Given the description of an element on the screen output the (x, y) to click on. 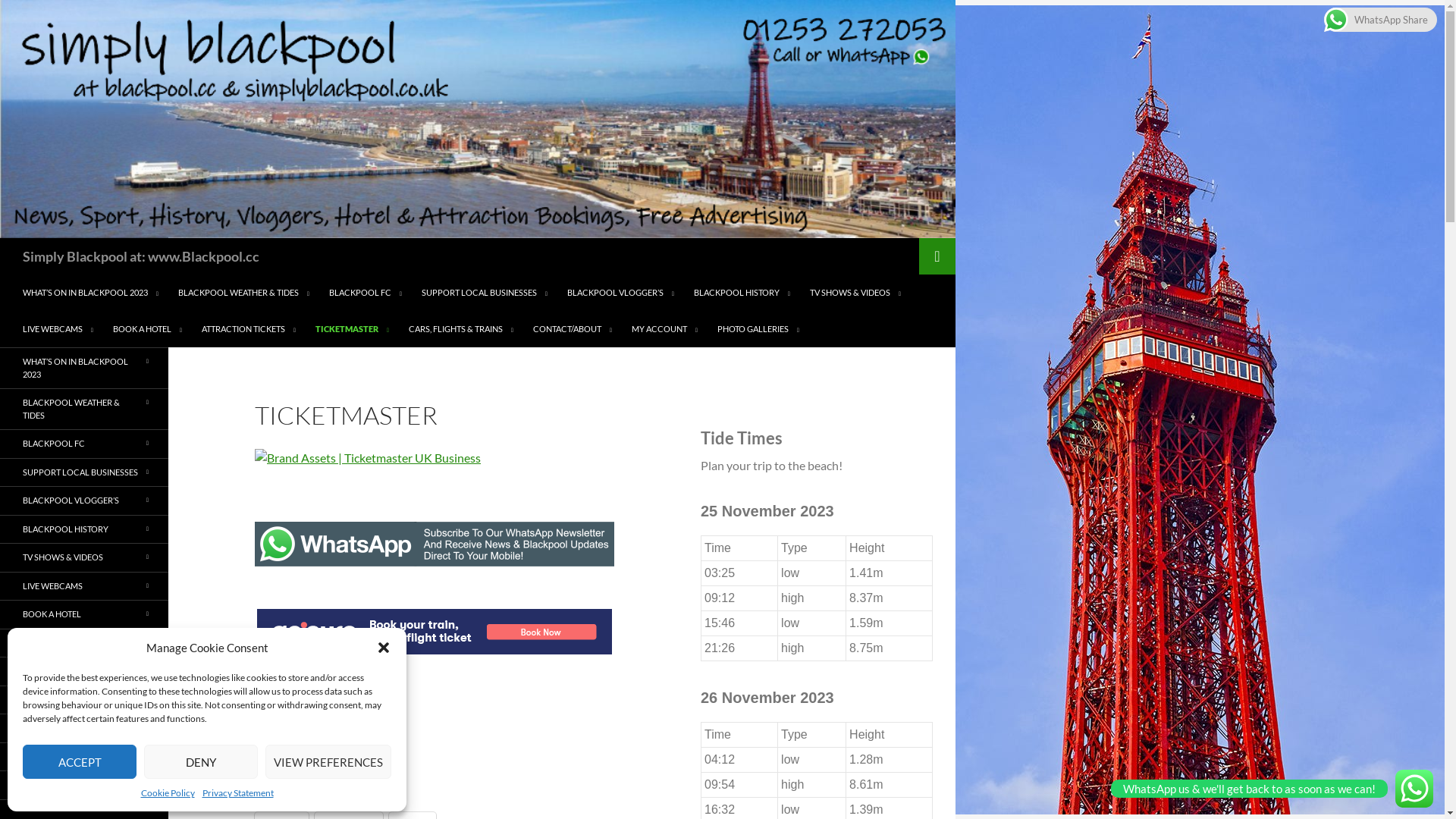
SUPPORT LOCAL BUSINESSES Element type: text (484, 292)
TV SHOWS & VIDEOS Element type: text (84, 557)
DENY Element type: text (200, 761)
CARS, FLIGHTS & TRAINS Element type: text (84, 699)
TICKETMASTER Element type: text (84, 671)
TV SHOWS & VIDEOS Element type: text (855, 292)
BLACKPOOL WEATHER & TIDES Element type: text (243, 292)
VIEW PREFERENCES Element type: text (328, 761)
BLACKPOOL FC Element type: text (365, 292)
Search Element type: text (3, 237)
Cookie Policy Element type: text (167, 793)
MY ACCOUNT Element type: text (664, 328)
BLACKPOOL HISTORY Element type: text (84, 529)
BOOK A HOTEL Element type: text (147, 328)
BOOK A HOTEL Element type: text (84, 614)
CONTACT/ABOUT Element type: text (572, 328)
LIVE WEBCAMS Element type: text (57, 328)
SUPPORT LOCAL BUSINESSES Element type: text (84, 472)
PHOTO GALLERIES Element type: text (84, 785)
CONTACT/ABOUT Element type: text (84, 728)
Search Element type: text (29, 9)
TICKETMASTER Element type: text (352, 328)
BLACKPOOL HISTORY Element type: text (741, 292)
Privacy Statement Element type: text (237, 793)
ATTRACTION TICKETS Element type: text (248, 328)
BLACKPOOL WEATHER & TIDES Element type: text (84, 409)
MY ACCOUNT Element type: text (84, 757)
BLACKPOOL FC Element type: text (84, 443)
Simply Blackpool at: www.Blackpool.cc Element type: text (140, 256)
LIVE WEBCAMS Element type: text (84, 585)
PHOTO GALLERIES Element type: text (758, 328)
CARS, FLIGHTS & TRAINS Element type: text (460, 328)
SKIP TO CONTENT Element type: text (21, 273)
ATTRACTION TICKETS Element type: text (84, 643)
ACCEPT Element type: text (79, 761)
